Given the description of an element on the screen output the (x, y) to click on. 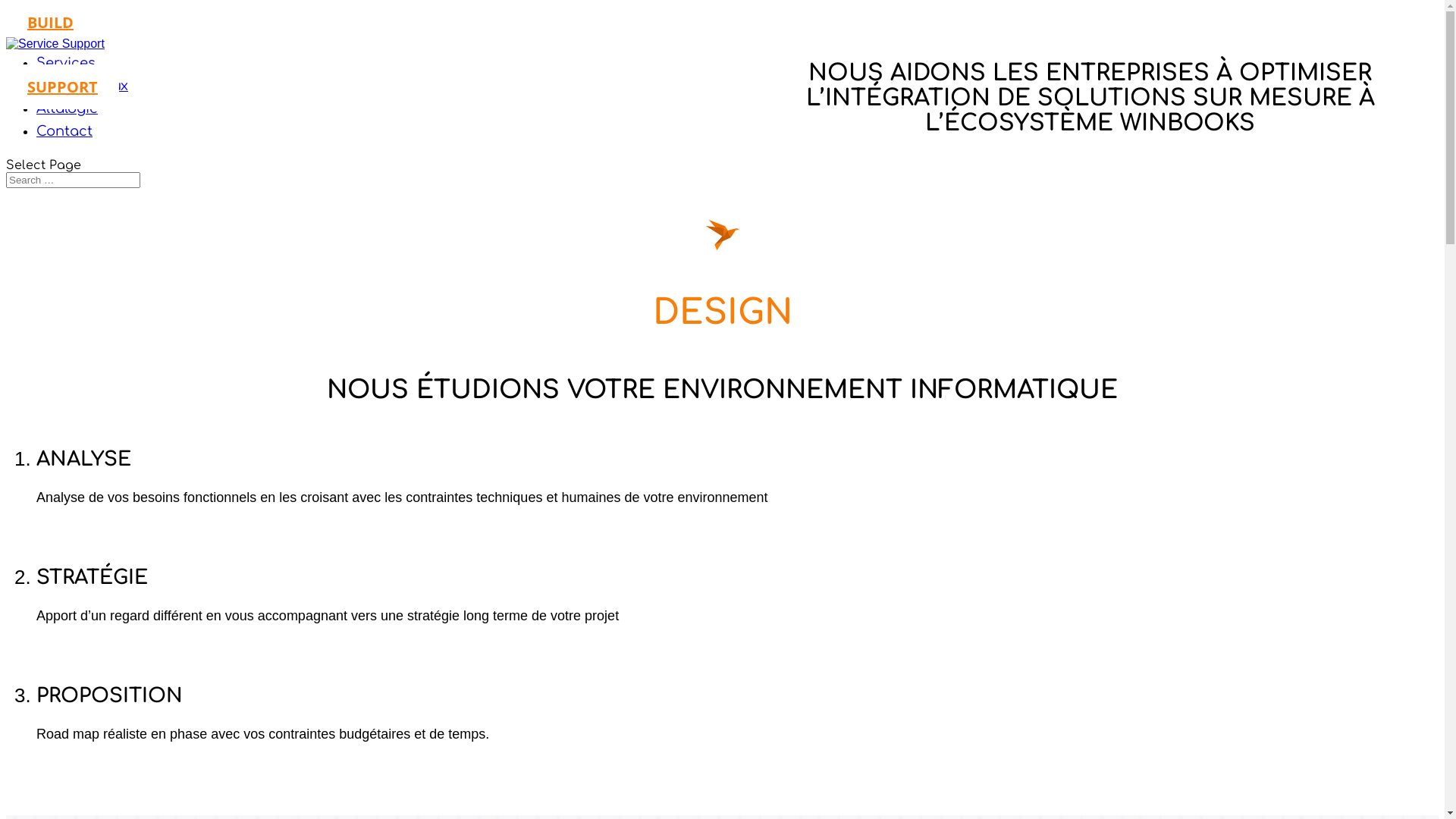
Search for: Element type: hover (73, 180)
Altalogic Element type: text (66, 119)
SUPPORT Element type: text (62, 86)
BUILD Element type: text (50, 22)
Services Element type: text (65, 74)
Contact Element type: text (64, 142)
Testimoniaux Element type: text (82, 97)
